Given the description of an element on the screen output the (x, y) to click on. 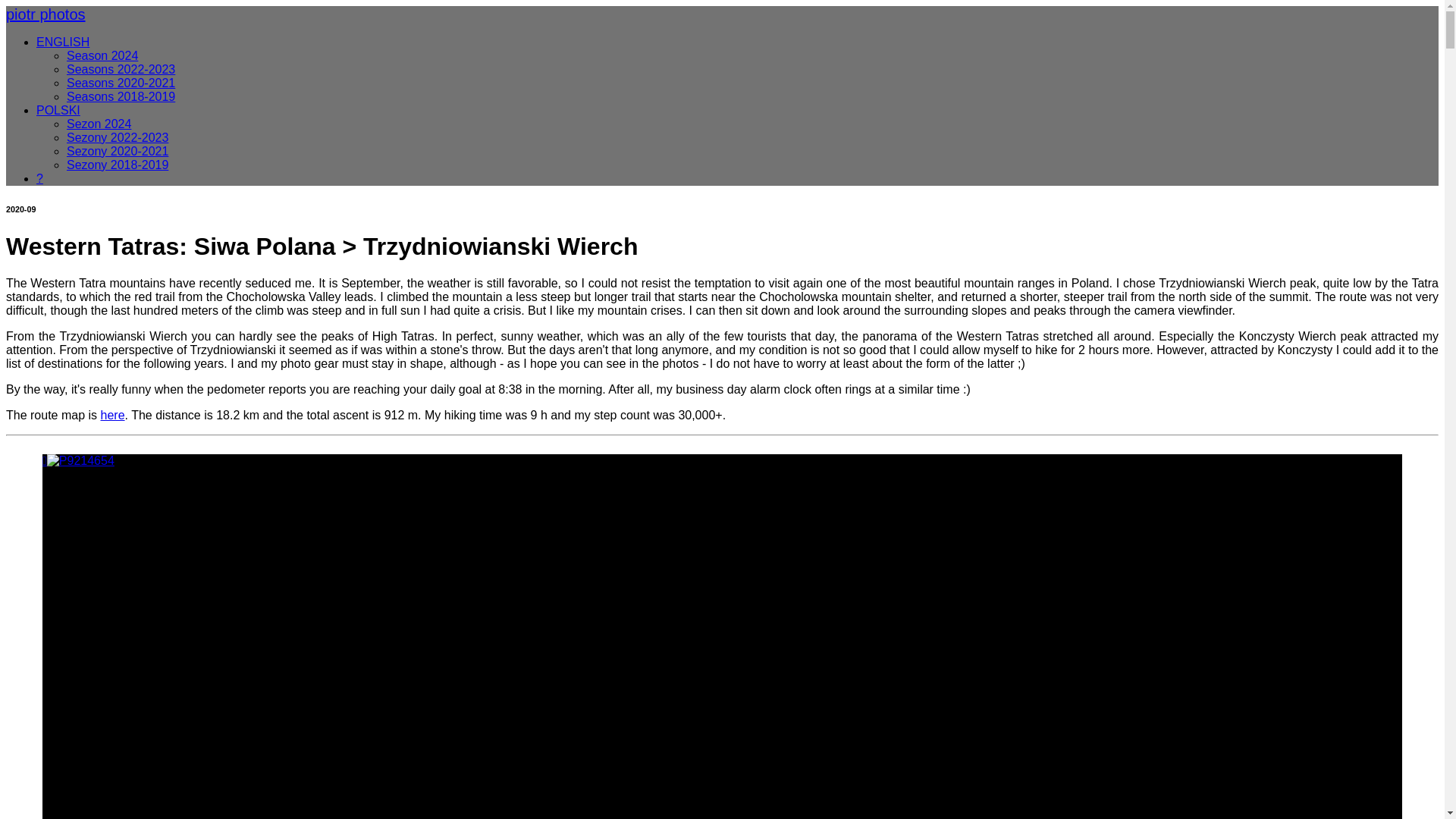
Seasons 2022-2023 (120, 69)
Sezony 2022-2023 (117, 137)
Sezony 2020-2021 (117, 151)
Sezon 2024 (98, 123)
POLSKI (58, 110)
Seasons 2020-2021 (120, 82)
Season 2024 (102, 55)
Sezony 2018-2019 (117, 164)
piotr photos (45, 18)
here (111, 414)
ENGLISH (62, 42)
Seasons 2018-2019 (120, 96)
